Given the description of an element on the screen output the (x, y) to click on. 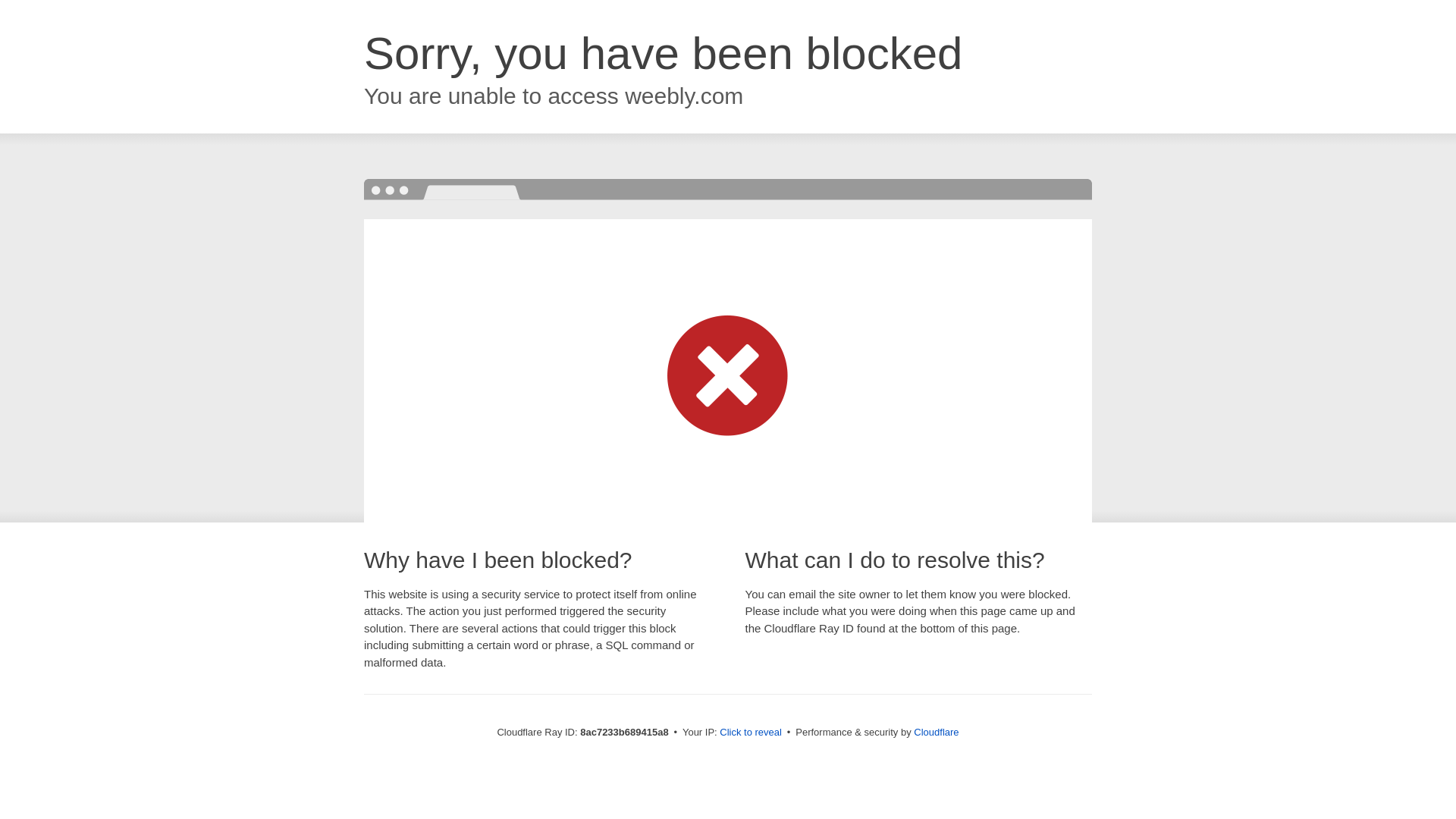
Click to reveal (750, 732)
Cloudflare (936, 731)
